Given the description of an element on the screen output the (x, y) to click on. 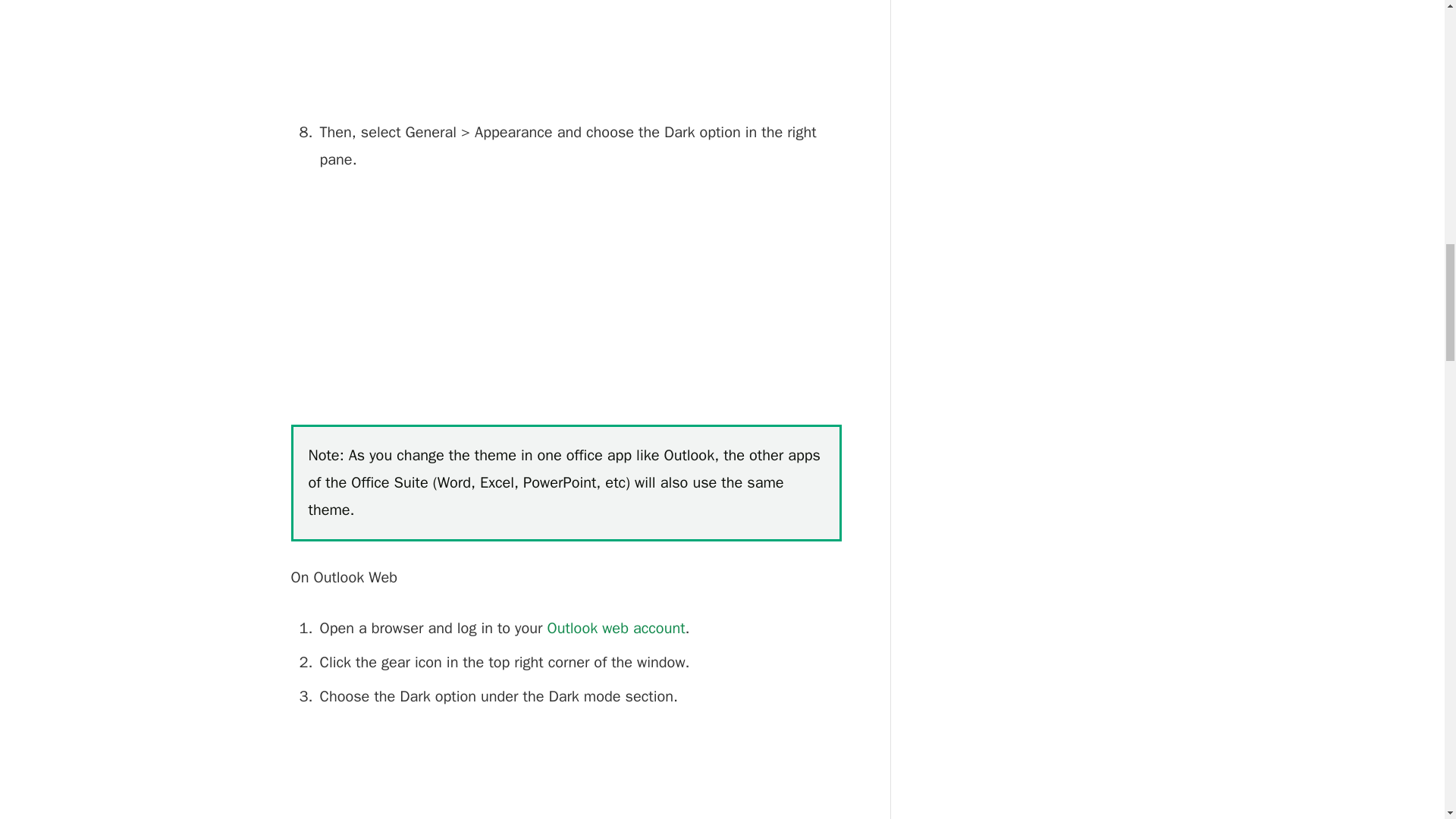
Outlook web account (615, 628)
